Given the description of an element on the screen output the (x, y) to click on. 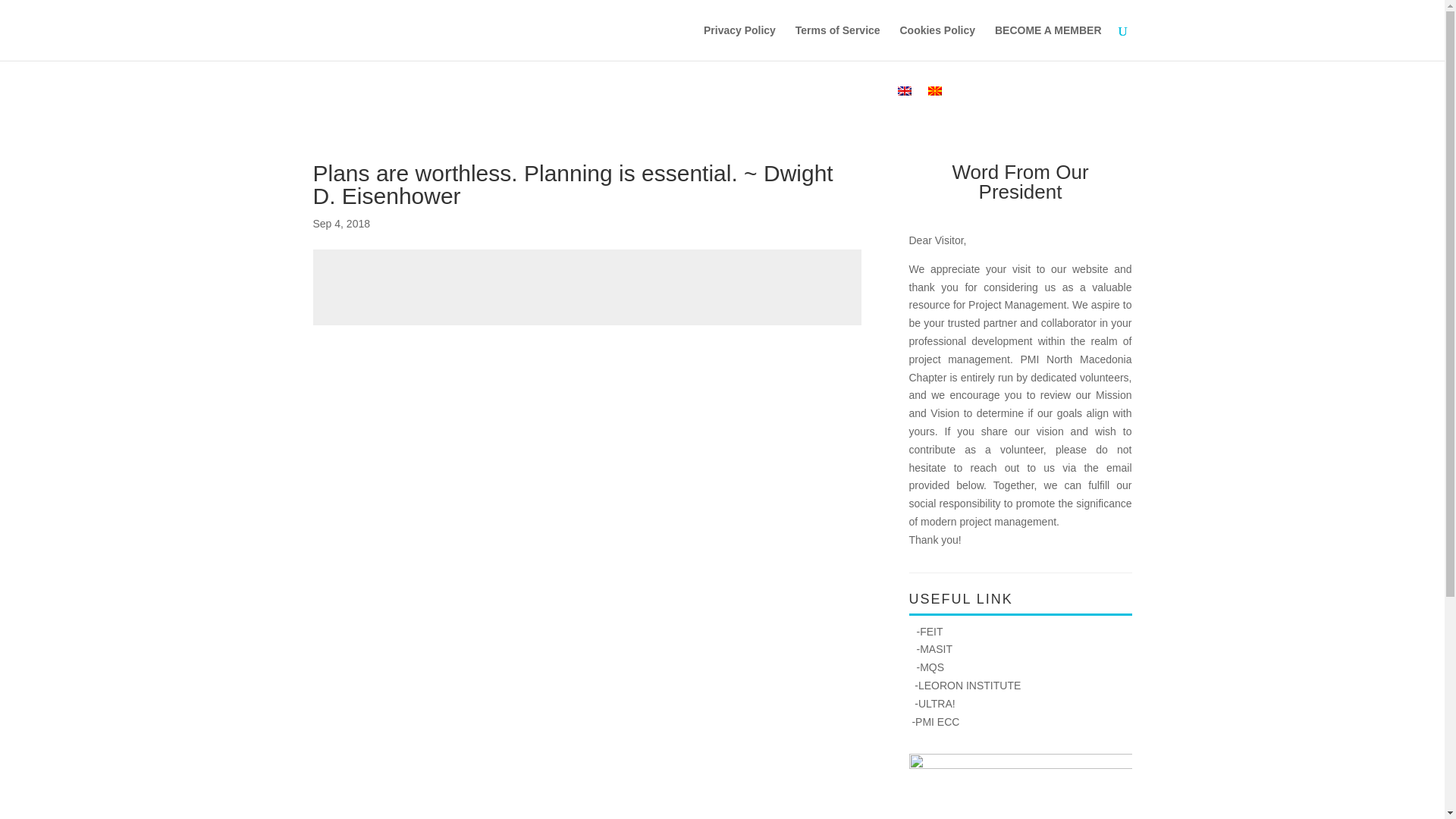
Cookies Policy (937, 42)
BECOME A MEMBER (1048, 42)
English (904, 90)
Organization (457, 101)
Privacy Policy (739, 42)
Membership (548, 101)
Profesional Development (668, 101)
Profile (380, 101)
Terms of Service (837, 42)
